Given the description of an element on the screen output the (x, y) to click on. 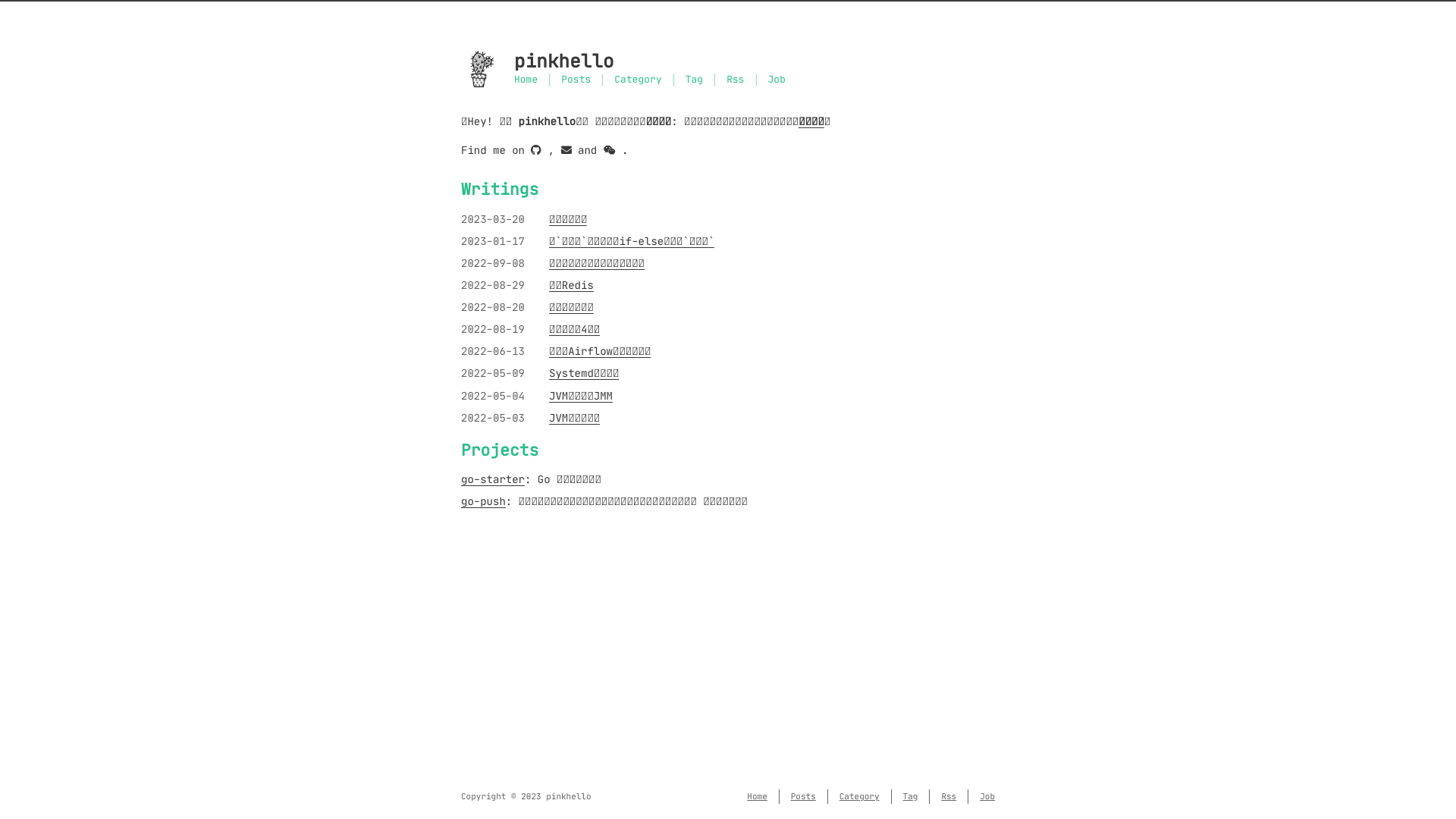
Tag Element type: text (910, 795)
Category Element type: text (859, 795)
Rss Element type: text (948, 795)
go-starter Element type: text (492, 479)
Posts Element type: text (802, 795)
Home Element type: text (756, 795)
go-push Element type: text (483, 501)
Category Element type: text (637, 79)
pinkhello Element type: text (727, 62)
Home Element type: text (525, 79)
Tag Element type: text (693, 79)
Job Element type: text (776, 79)
Writings Element type: text (499, 189)
Posts Element type: text (575, 79)
Projects Element type: text (499, 450)
Job Element type: text (986, 795)
Rss Element type: text (734, 79)
